Given the description of an element on the screen output the (x, y) to click on. 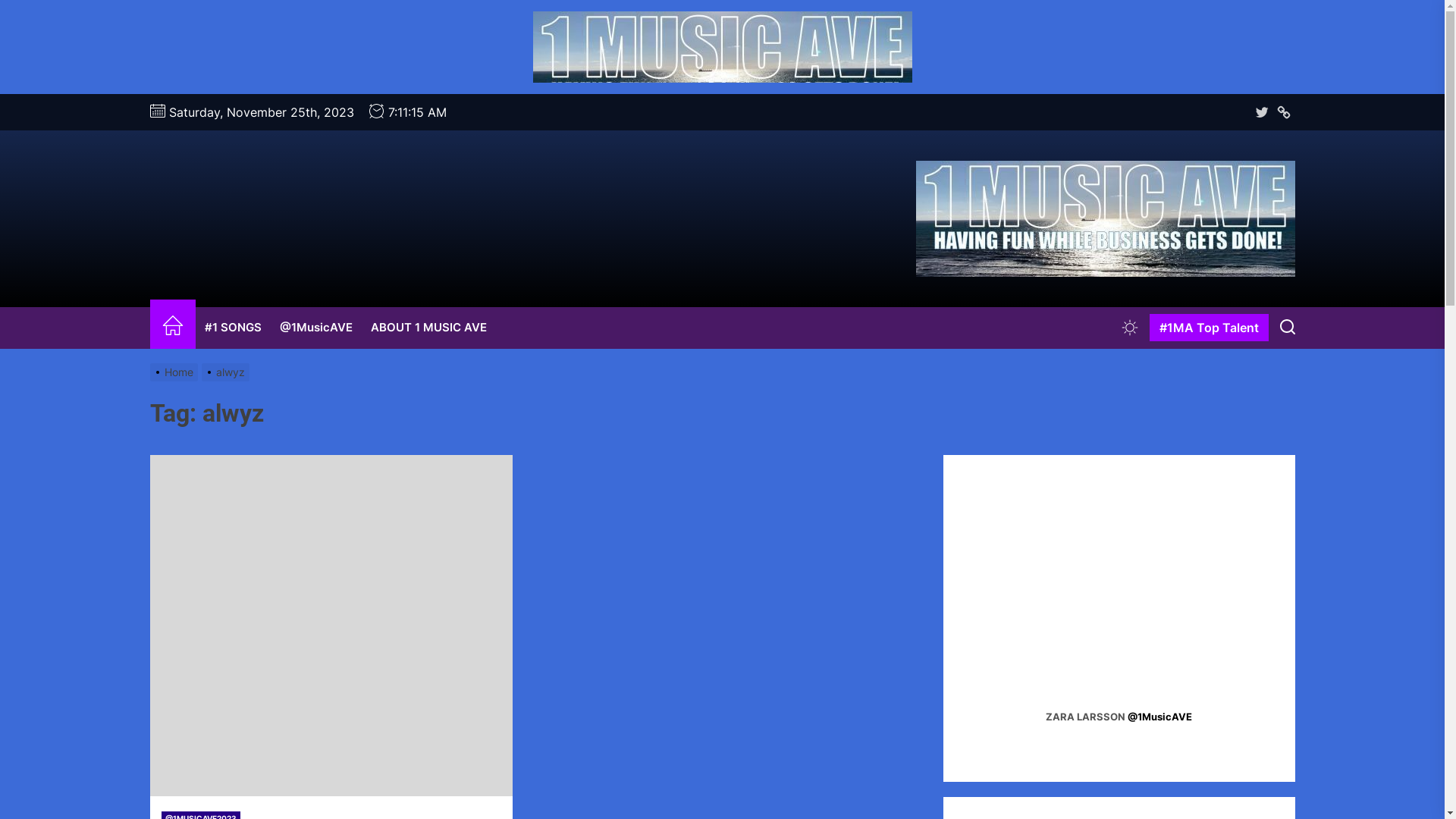
Home Element type: hover (172, 327)
Header AD Image Element type: hover (721, 46)
@1MusicAVE Element type: text (1283, 112)
ZARA LARSSON @1MusicAVE INTERVIEW BY CARY VANCE Element type: hover (1118, 603)
#1 SONGS Element type: text (232, 327)
Home Element type: text (175, 371)
@1MUSICAVE Twitter Element type: text (1261, 112)
#1MA Top Talent Element type: text (1208, 327)
@1MusicAVE Element type: text (1159, 716)
ABOUT 1 MUSIC AVE Element type: text (427, 327)
alwyz Element type: text (227, 371)
@1MusicAVE Element type: text (314, 327)
